Given the description of an element on the screen output the (x, y) to click on. 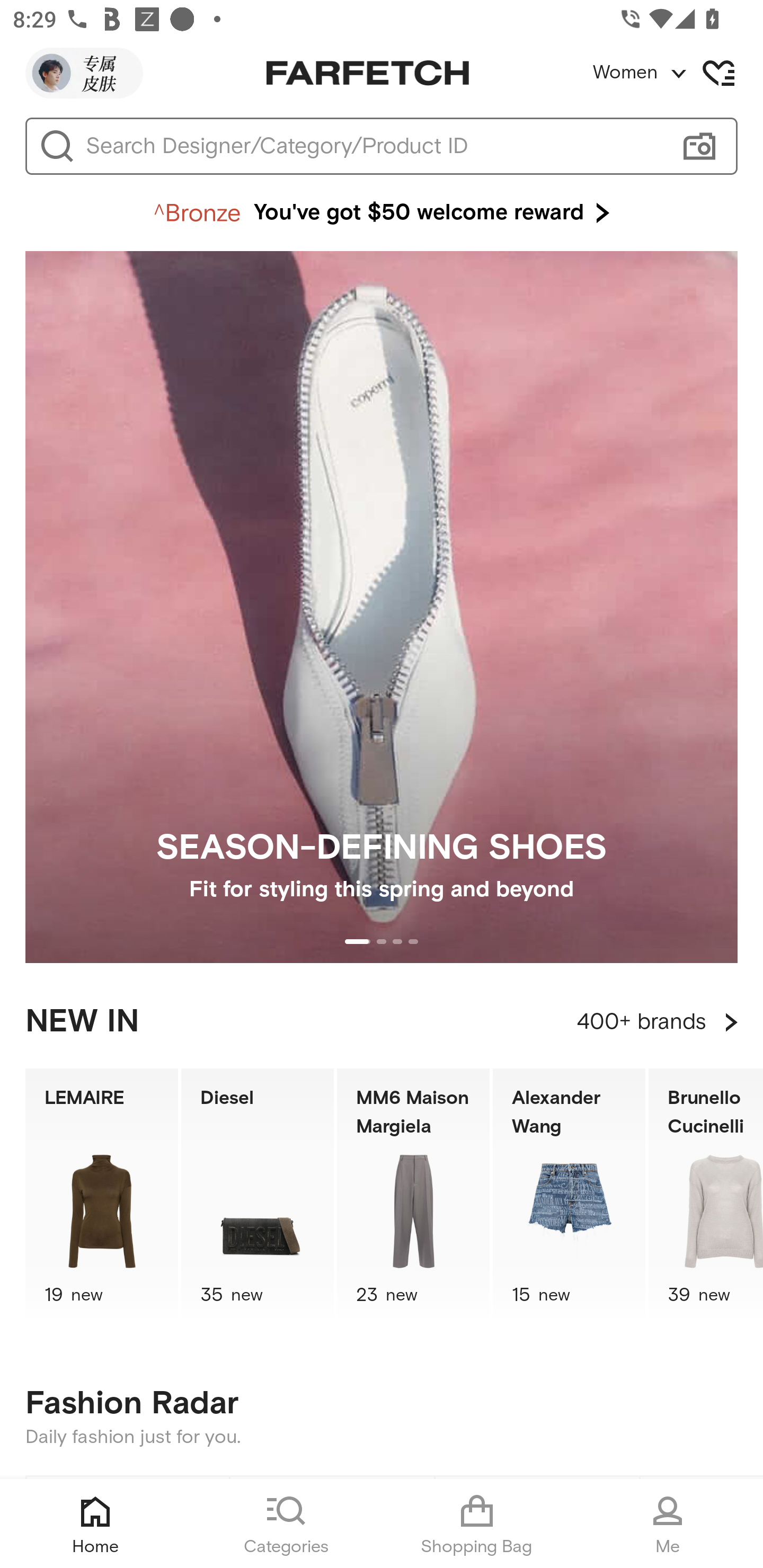
Women (677, 72)
Search Designer/Category/Product ID (373, 146)
You've got $50 welcome reward (381, 213)
NEW IN 400+ brands (381, 1021)
LEMAIRE 19  new (101, 1196)
Diesel 35  new (257, 1196)
MM6 Maison Margiela 23  new (413, 1196)
Alexander Wang 15  new (568, 1196)
Brunello Cucinelli 39  new (705, 1196)
Categories (285, 1523)
Shopping Bag (476, 1523)
Me (667, 1523)
